Given the description of an element on the screen output the (x, y) to click on. 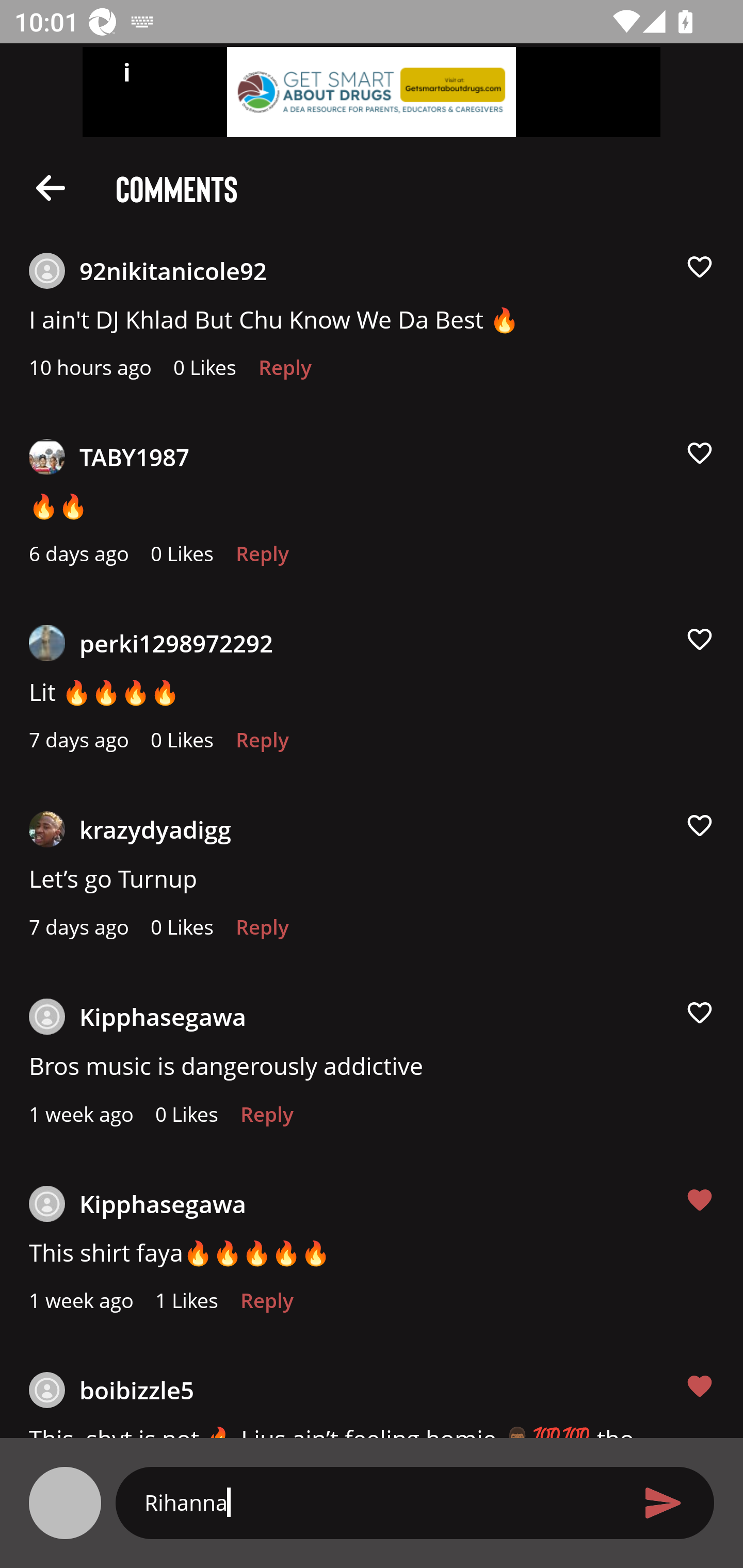
Description (50, 187)
Reply (285, 372)
Reply (261, 558)
Reply (261, 744)
Reply (261, 932)
Reply (266, 1119)
Reply (266, 1305)
Rihanna (378, 1502)
